Given the description of an element on the screen output the (x, y) to click on. 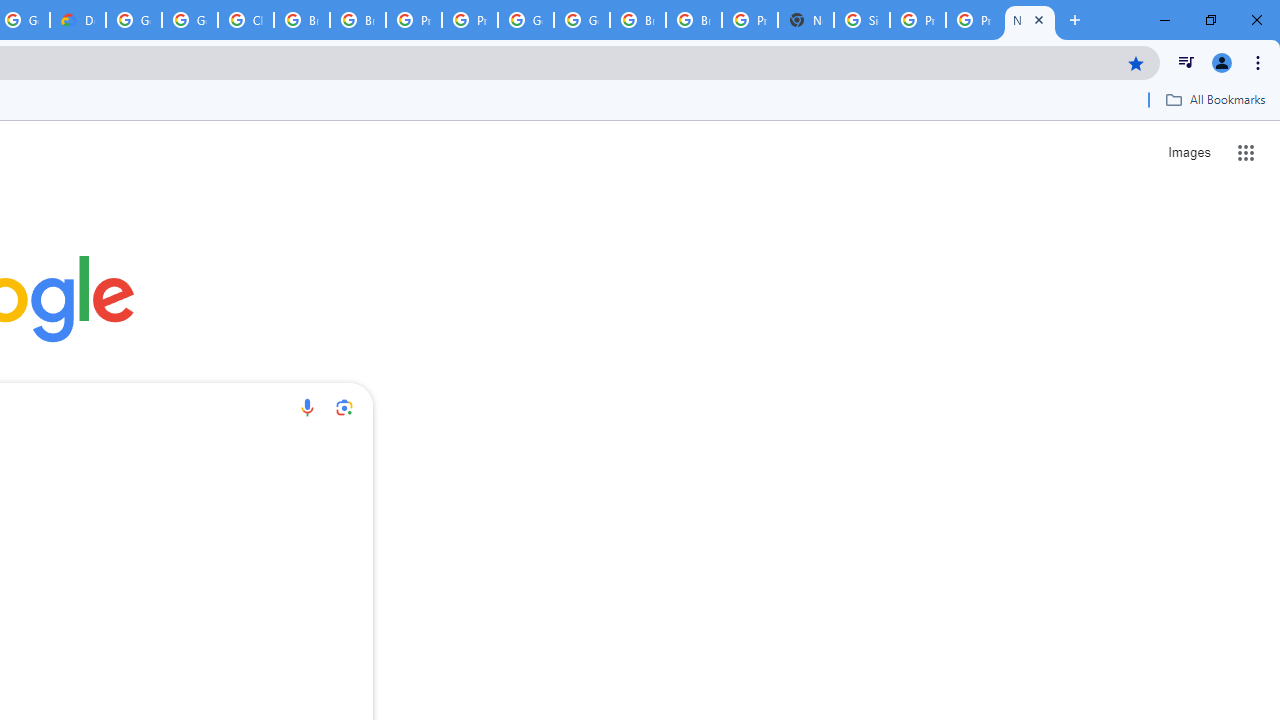
Google Cloud Platform (134, 20)
Browse Chrome as a guest - Computer - Google Chrome Help (693, 20)
New Tab (806, 20)
Control your music, videos, and more (1185, 62)
Browse Chrome as a guest - Computer - Google Chrome Help (301, 20)
Browse Chrome as a guest - Computer - Google Chrome Help (358, 20)
Browse Chrome as a guest - Computer - Google Chrome Help (637, 20)
All Bookmarks (1215, 99)
